Given the description of an element on the screen output the (x, y) to click on. 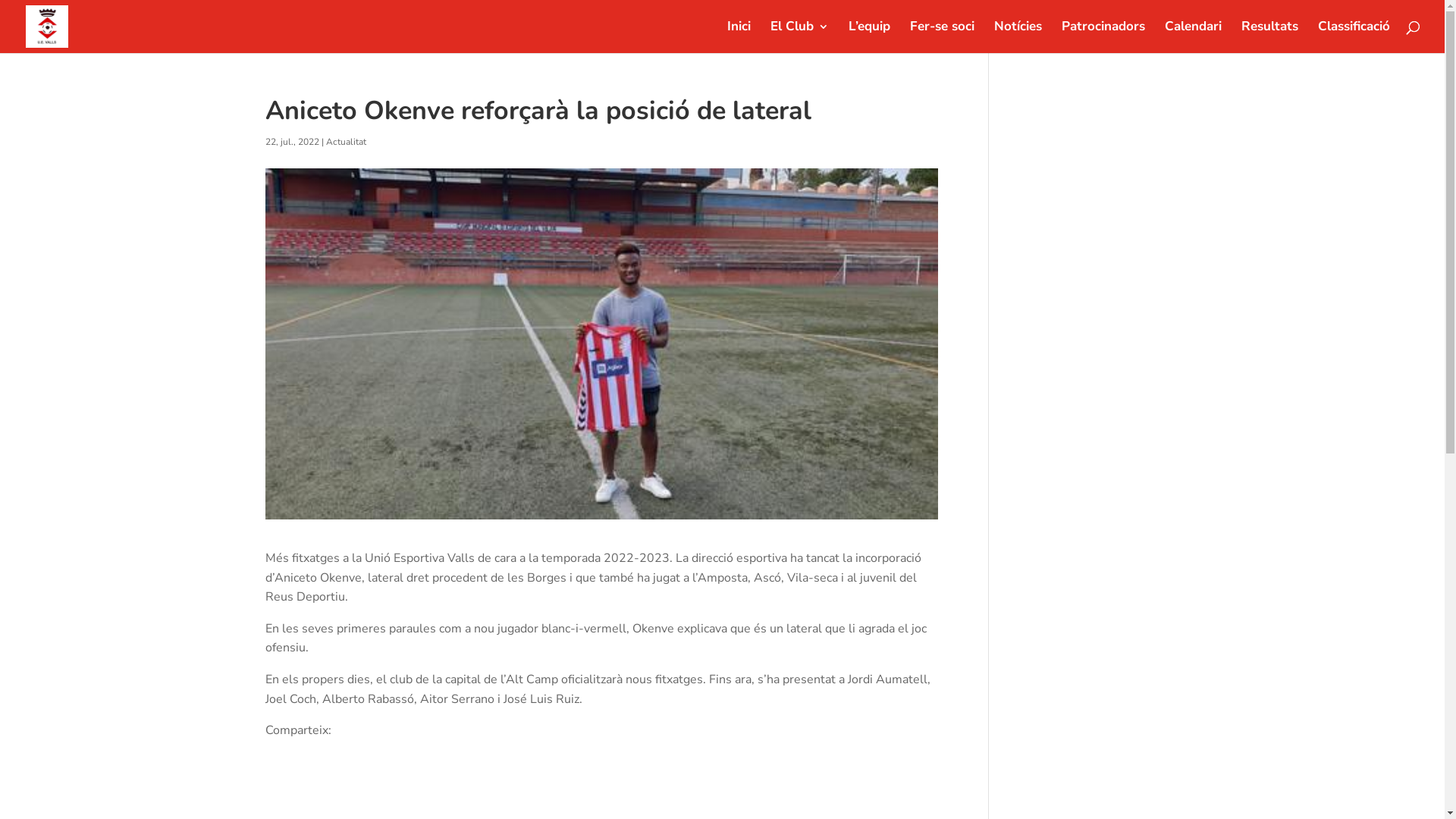
Actualitat Element type: text (346, 141)
Calendari Element type: text (1192, 37)
El Club Element type: text (799, 37)
Inici Element type: text (738, 37)
Resultats Element type: text (1269, 37)
Fer-se soci Element type: text (942, 37)
Patrocinadors Element type: text (1103, 37)
